Given the description of an element on the screen output the (x, y) to click on. 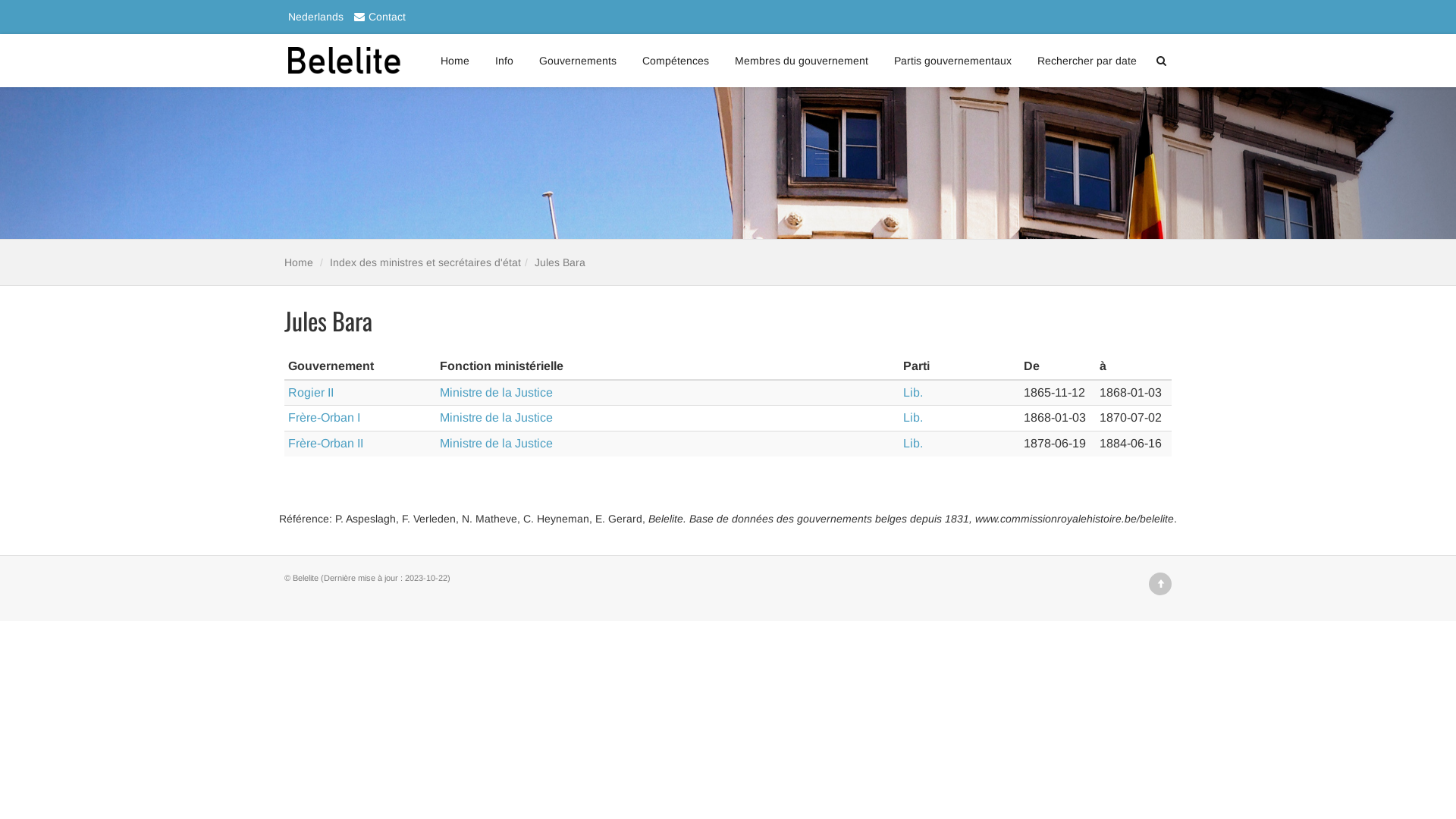
Lib. Element type: text (912, 391)
Lib. Element type: text (912, 417)
Membres du gouvernement Element type: text (801, 60)
Home Element type: text (298, 262)
Jules Bara Element type: text (559, 262)
Nederlands Element type: text (313, 16)
Ministre de la Justice Element type: text (495, 417)
Lib. Element type: text (912, 442)
Info Element type: text (503, 60)
Gouvernements Element type: text (577, 60)
Home Element type: text (454, 60)
Ministre de la Justice Element type: text (495, 391)
Rogier II Element type: text (310, 391)
Partis gouvernementaux Element type: text (952, 60)
Rechercher par date Element type: text (1087, 60)
Ministre de la Justice Element type: text (495, 442)
Contact Element type: text (375, 16)
